Given the description of an element on the screen output the (x, y) to click on. 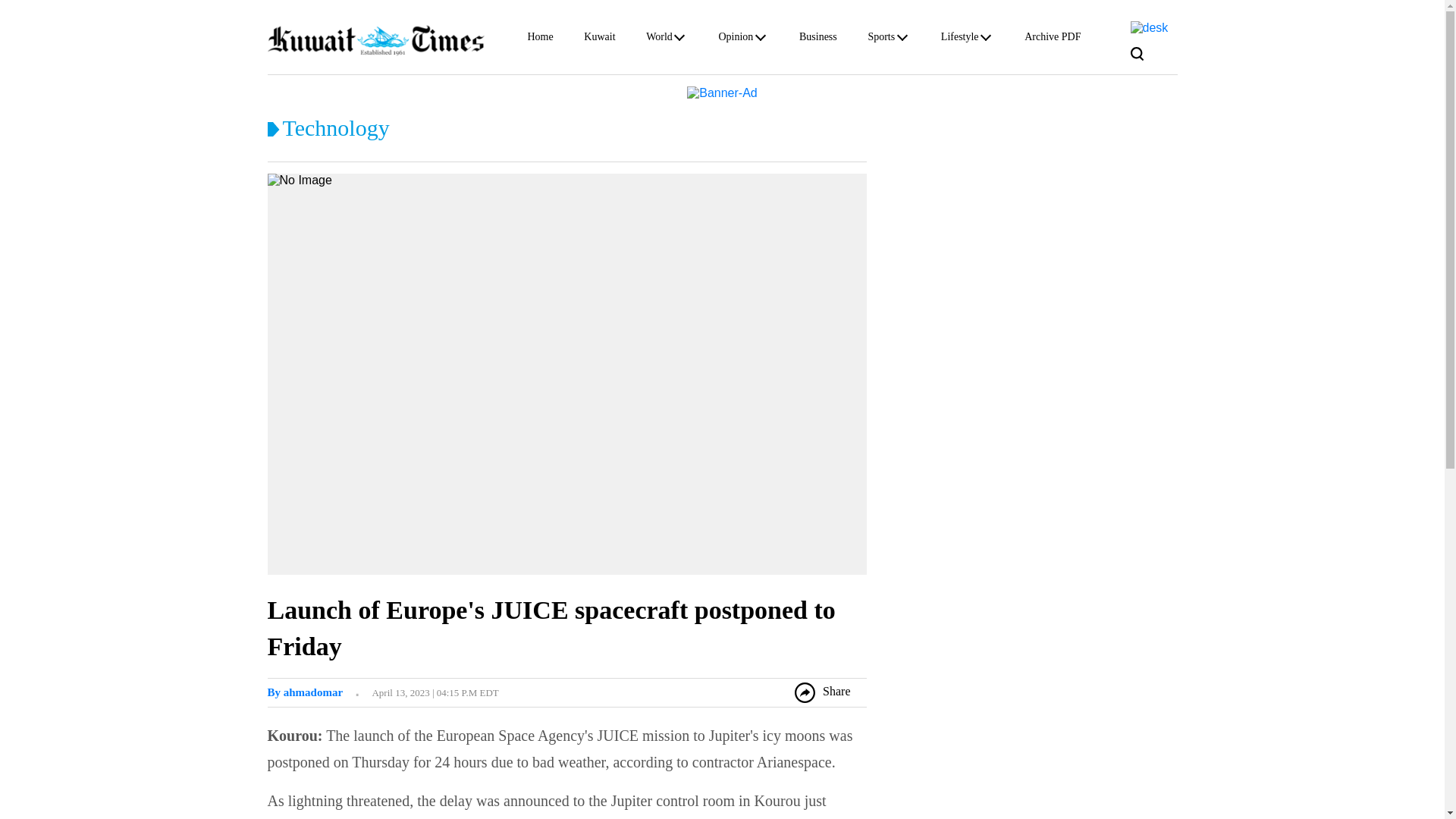
Archive PDF (1052, 39)
World (659, 39)
Kuwait (598, 39)
Banner-Ad (722, 91)
By ahmadomar (304, 692)
Archive PDF (1052, 39)
Home (540, 39)
Business (818, 39)
Launch of Europe's JUICE spacecraft postponed to Friday (550, 628)
Home (540, 39)
ahmadomar (304, 692)
pdf (1148, 26)
Technology (335, 127)
kuwaittimes.com (374, 39)
Opinion (734, 39)
